Given the description of an element on the screen output the (x, y) to click on. 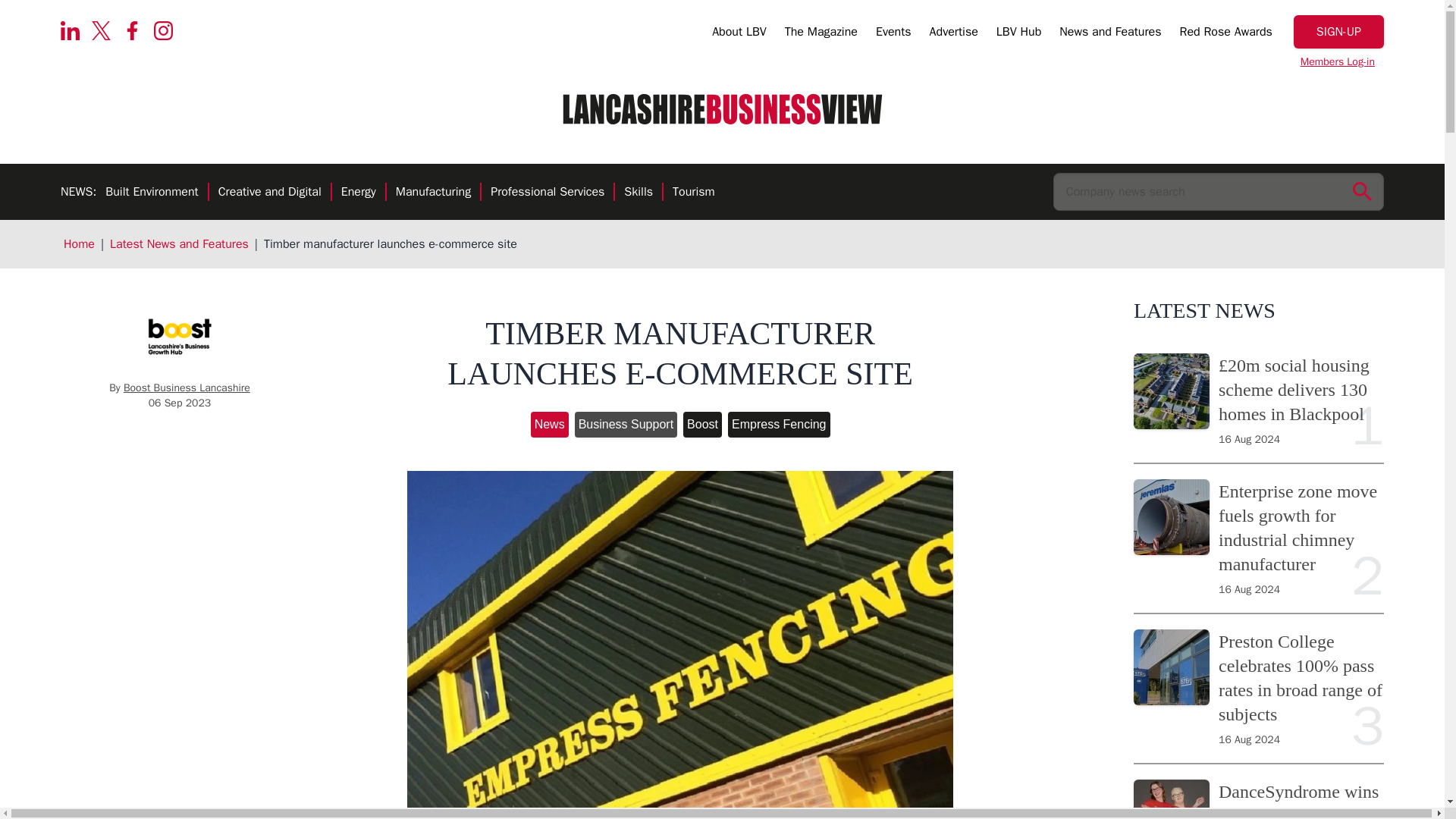
Tourism (693, 192)
Red Rose Awards (1225, 34)
Manufacturing (433, 192)
The Magazine (820, 34)
Professional Services (547, 192)
Members Log-in (1337, 61)
About LBV (739, 34)
Skills (638, 192)
News and Features (1109, 34)
SIGN-UP (1339, 31)
